Given the description of an element on the screen output the (x, y) to click on. 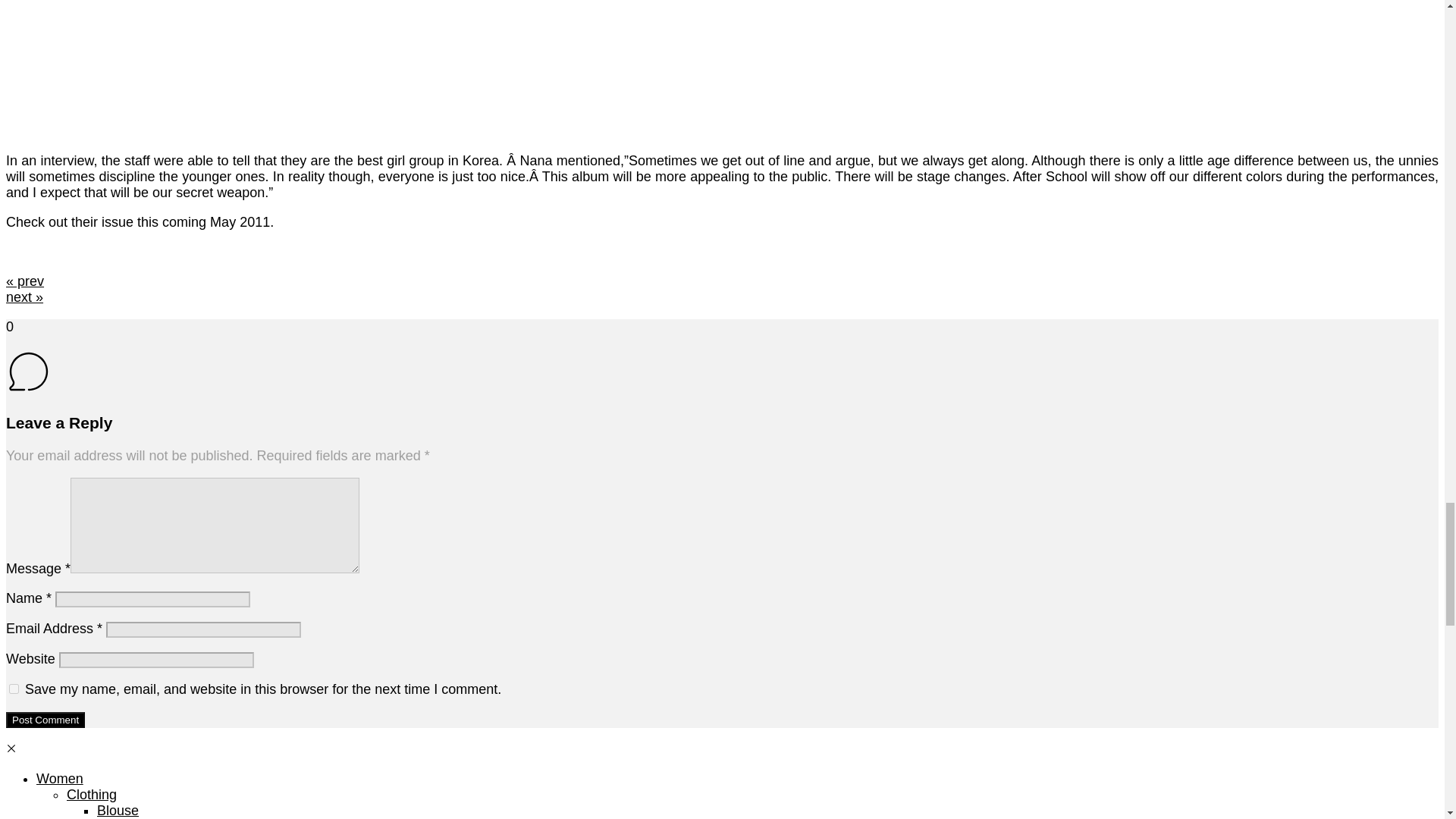
yes (13, 688)
Post Comment (44, 719)
After Girl (195, 69)
